Given the description of an element on the screen output the (x, y) to click on. 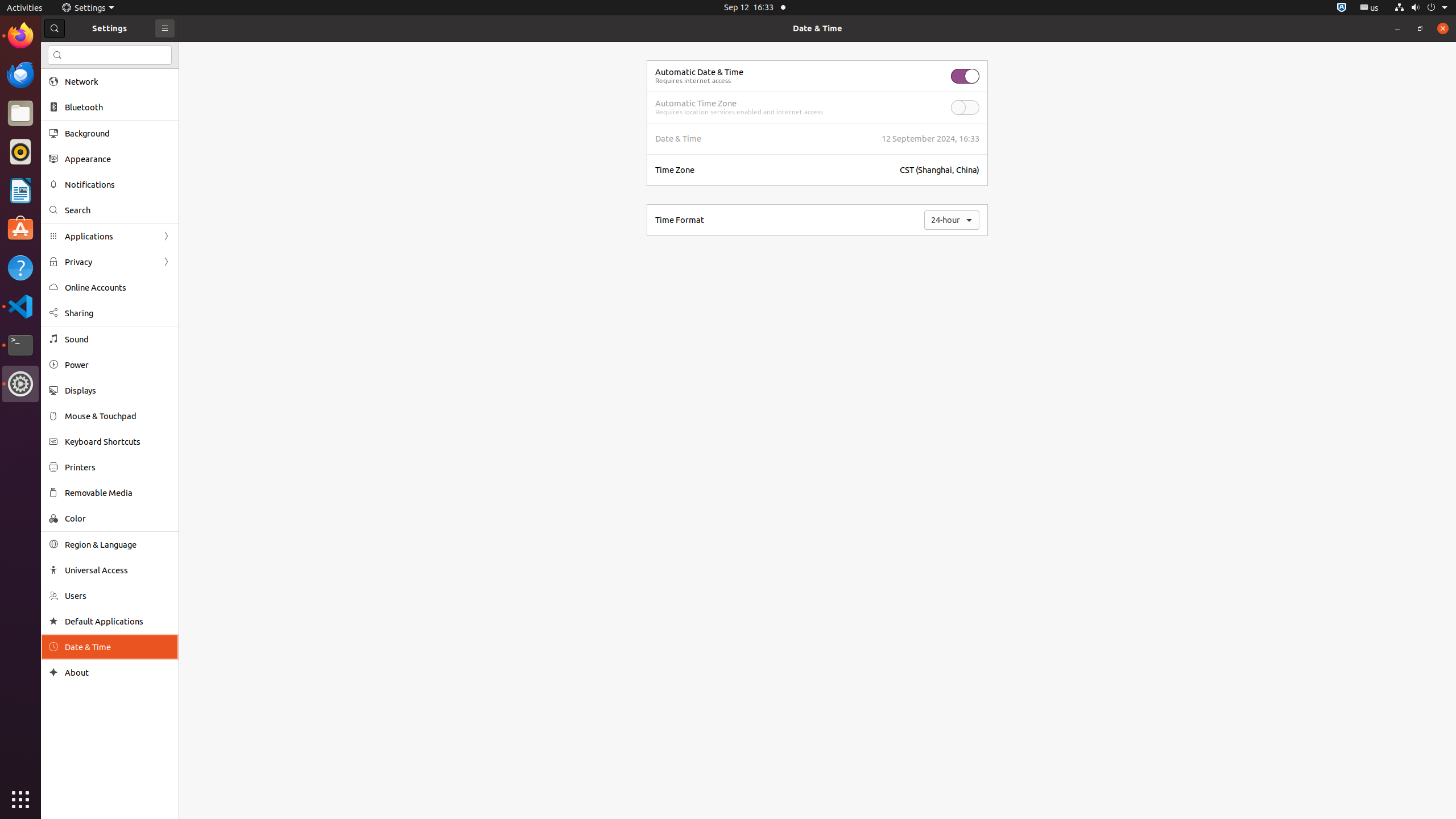
Close Element type: push-button (1442, 27)
24-hour Element type: combo-box (951, 219)
Users Element type: label (117, 595)
